Given the description of an element on the screen output the (x, y) to click on. 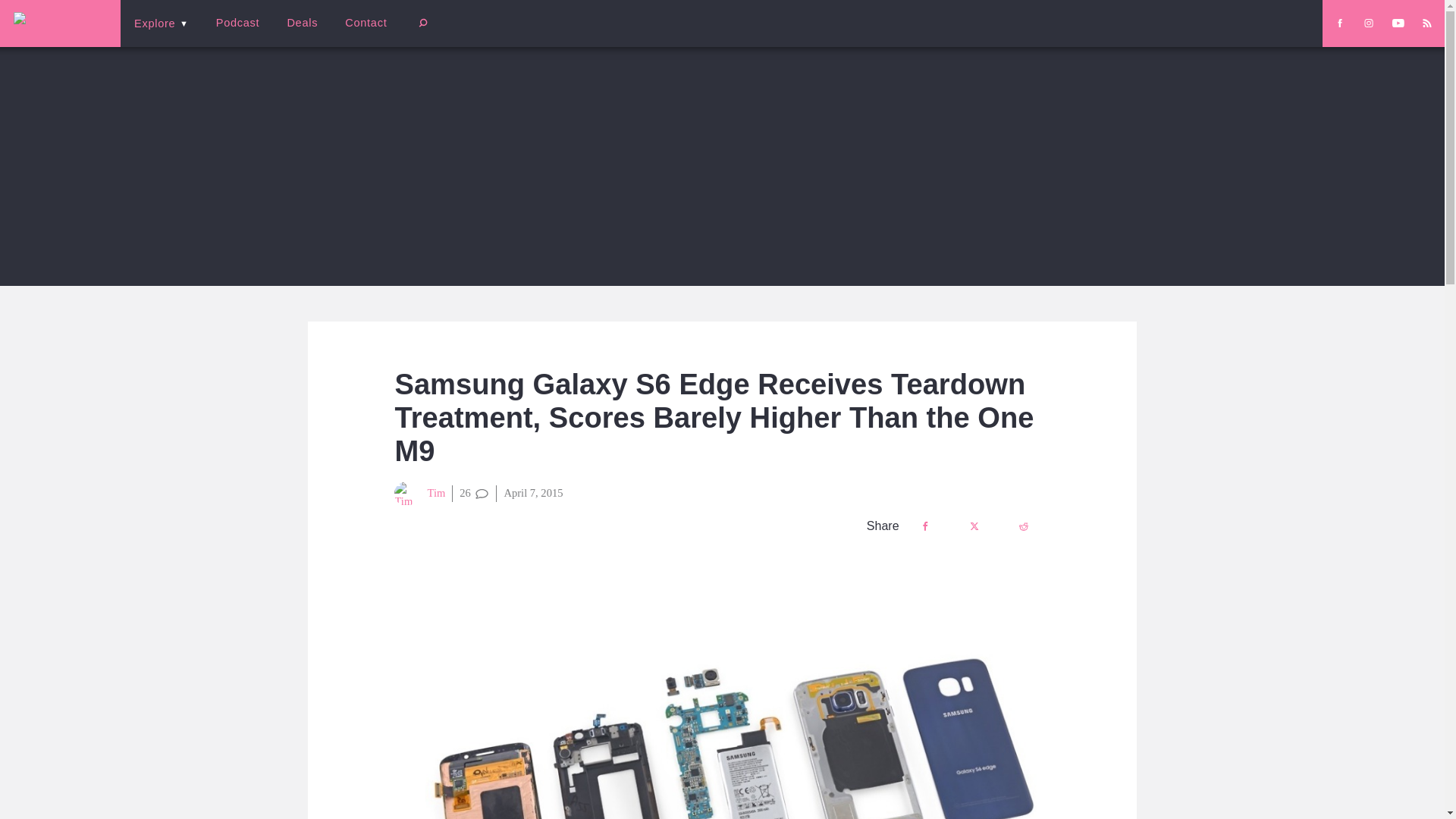
Droid Life on YouTube (1398, 23)
Podcast (237, 23)
Contact (365, 23)
Droid Life RSS (1426, 23)
Droid Life on Instagram (1368, 23)
Deals (302, 23)
Beginners' Guide (360, 33)
Droid Life on Facebook (1339, 23)
Explore (161, 23)
Tim (419, 493)
